Given the description of an element on the screen output the (x, y) to click on. 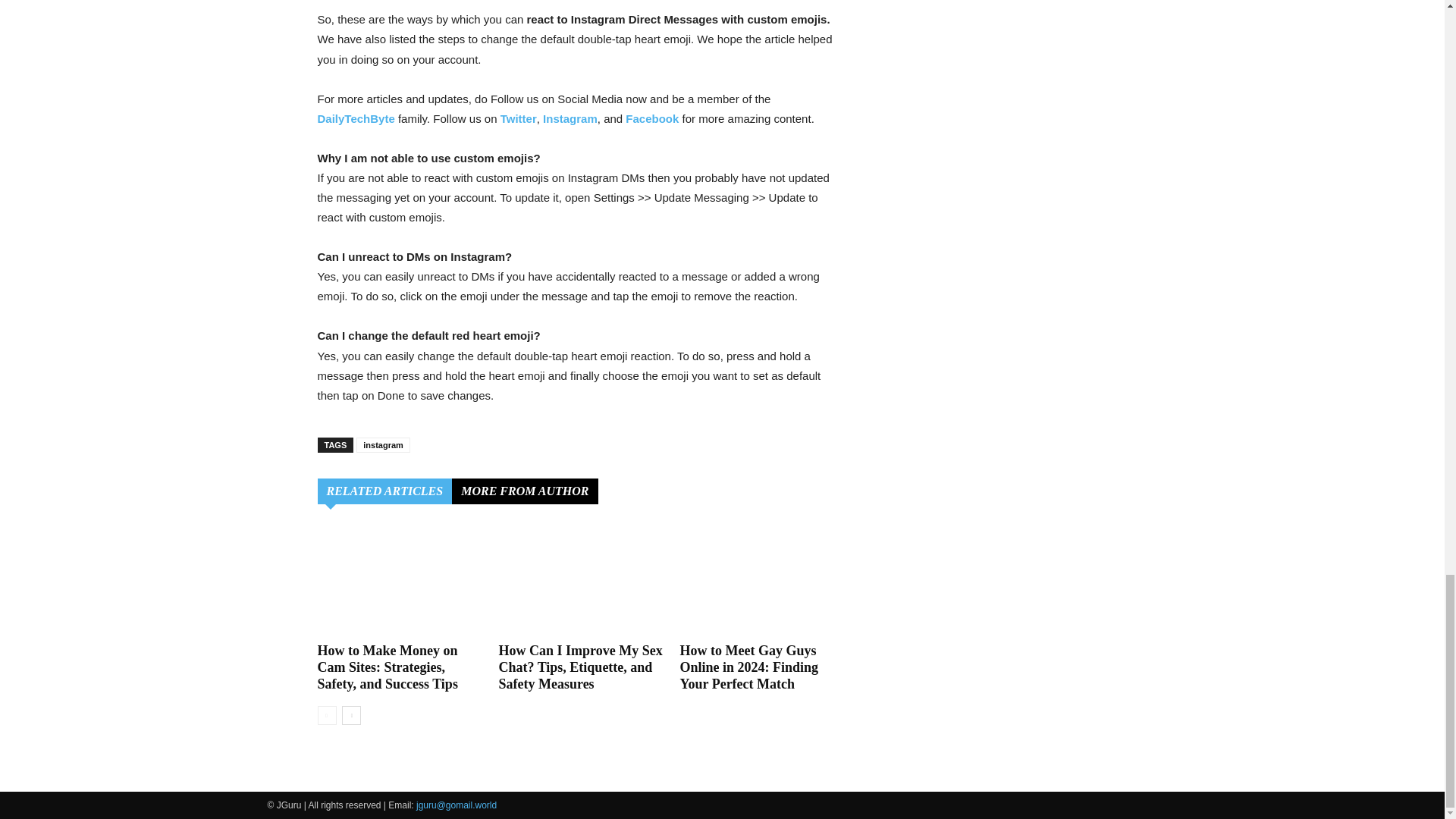
DailyTechByte (355, 118)
Instagram (569, 118)
instagram (383, 444)
Facebook (652, 118)
